Given the description of an element on the screen output the (x, y) to click on. 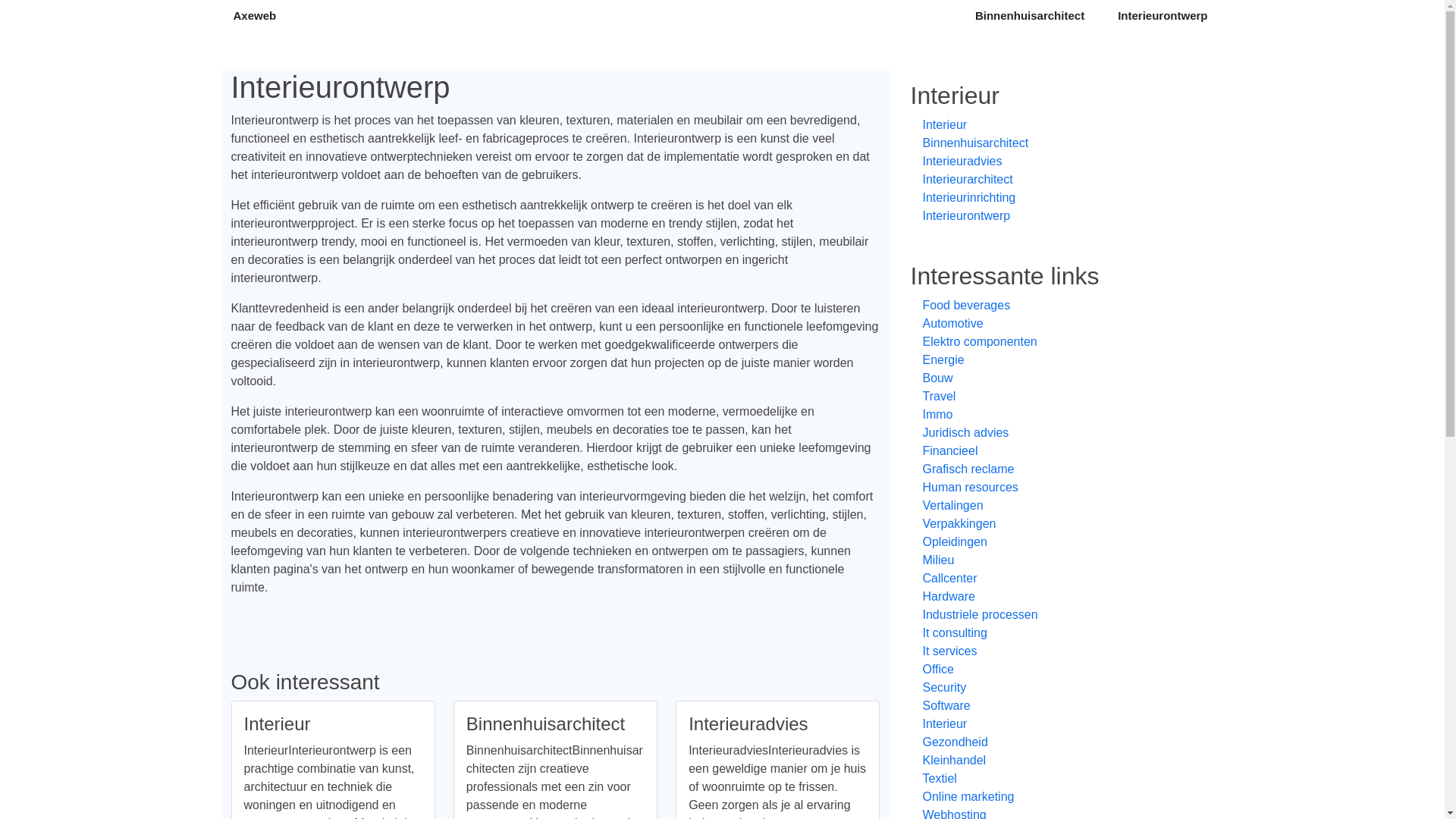
Grafisch reclame Element type: text (1055, 469)
Office Element type: text (1055, 669)
Automotive Element type: text (1055, 323)
Milieu Element type: text (1055, 560)
It services Element type: text (1055, 651)
Interieuradvies Element type: text (1055, 161)
Verpakkingen Element type: text (1055, 523)
Bouw Element type: text (1055, 378)
Interieurinrichting Element type: text (1055, 197)
Energie Element type: text (1055, 360)
Food beverages Element type: text (1055, 305)
Financieel Element type: text (1055, 451)
Textiel Element type: text (1055, 778)
Elektro componenten Element type: text (1055, 341)
Travel Element type: text (1055, 396)
Axeweb Element type: text (254, 16)
Binnenhuisarchitect Element type: text (1029, 16)
Software Element type: text (1055, 705)
Callcenter Element type: text (1055, 578)
Interieurontwerp Element type: text (1055, 216)
Kleinhandel Element type: text (1055, 760)
Hardware Element type: text (1055, 596)
Gezondheid Element type: text (1055, 742)
Interieur Element type: text (1055, 724)
Online marketing Element type: text (1055, 796)
Industriele processen Element type: text (1055, 614)
Immo Element type: text (1055, 414)
Vertalingen Element type: text (1055, 505)
Binnenhuisarchitect Element type: text (1055, 143)
Juridisch advies Element type: text (1055, 432)
Human resources Element type: text (1055, 487)
Interieurontwerp Element type: text (1162, 16)
Interieurarchitect Element type: text (1055, 179)
Interieur Element type: text (1055, 125)
Opleidingen Element type: text (1055, 542)
Security Element type: text (1055, 687)
It consulting Element type: text (1055, 633)
